Given the description of an element on the screen output the (x, y) to click on. 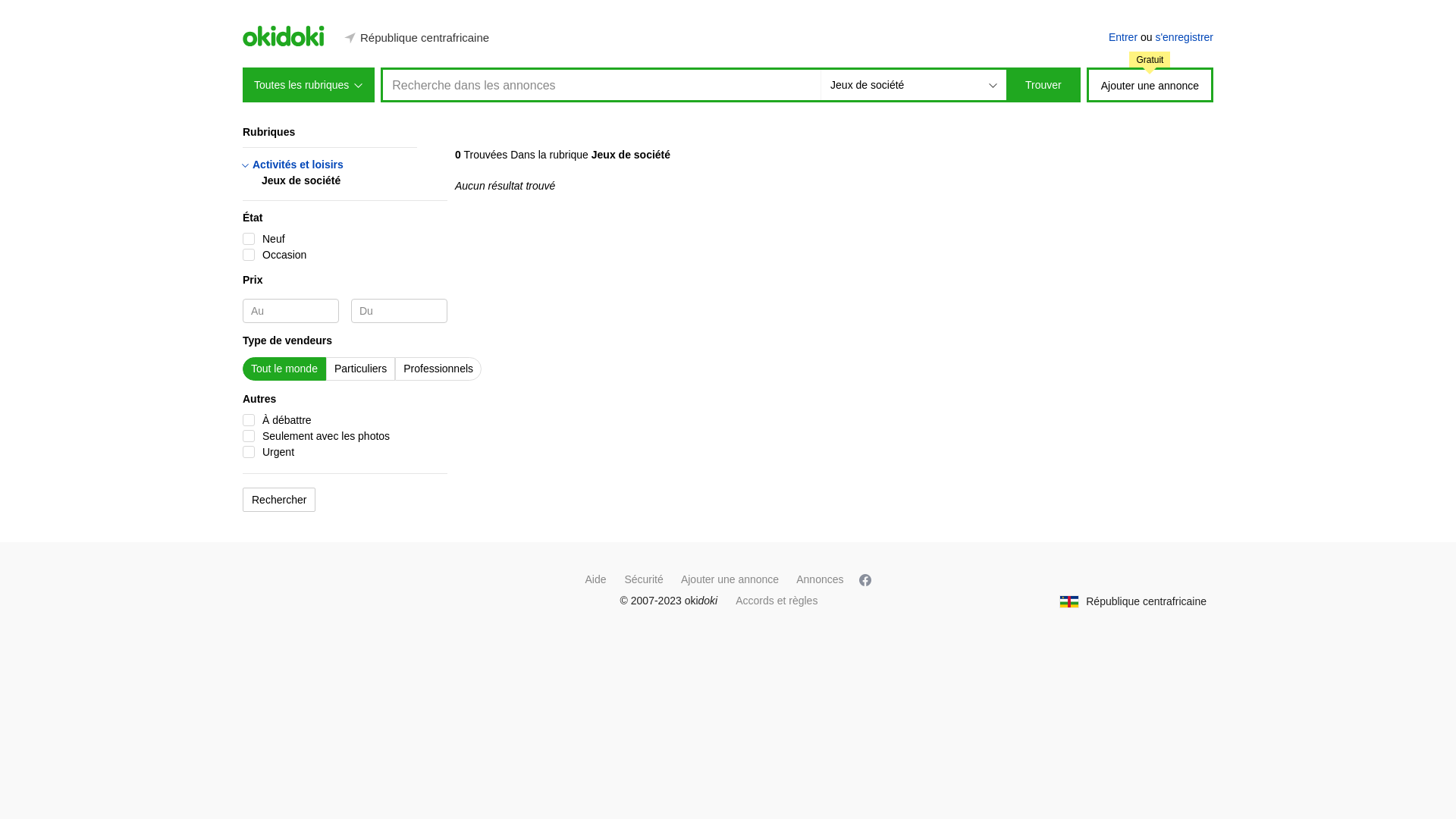
s'enregistrer Element type: text (1183, 37)
Entrer Element type: text (1122, 37)
okidoki Element type: text (865, 579)
Aide Element type: text (594, 579)
Ajouter une annonce Element type: text (1149, 84)
Rechercher Element type: text (278, 499)
Annonces Element type: text (819, 579)
Trouver Element type: text (1043, 84)
Ajouter une annonce Element type: text (729, 579)
